Given the description of an element on the screen output the (x, y) to click on. 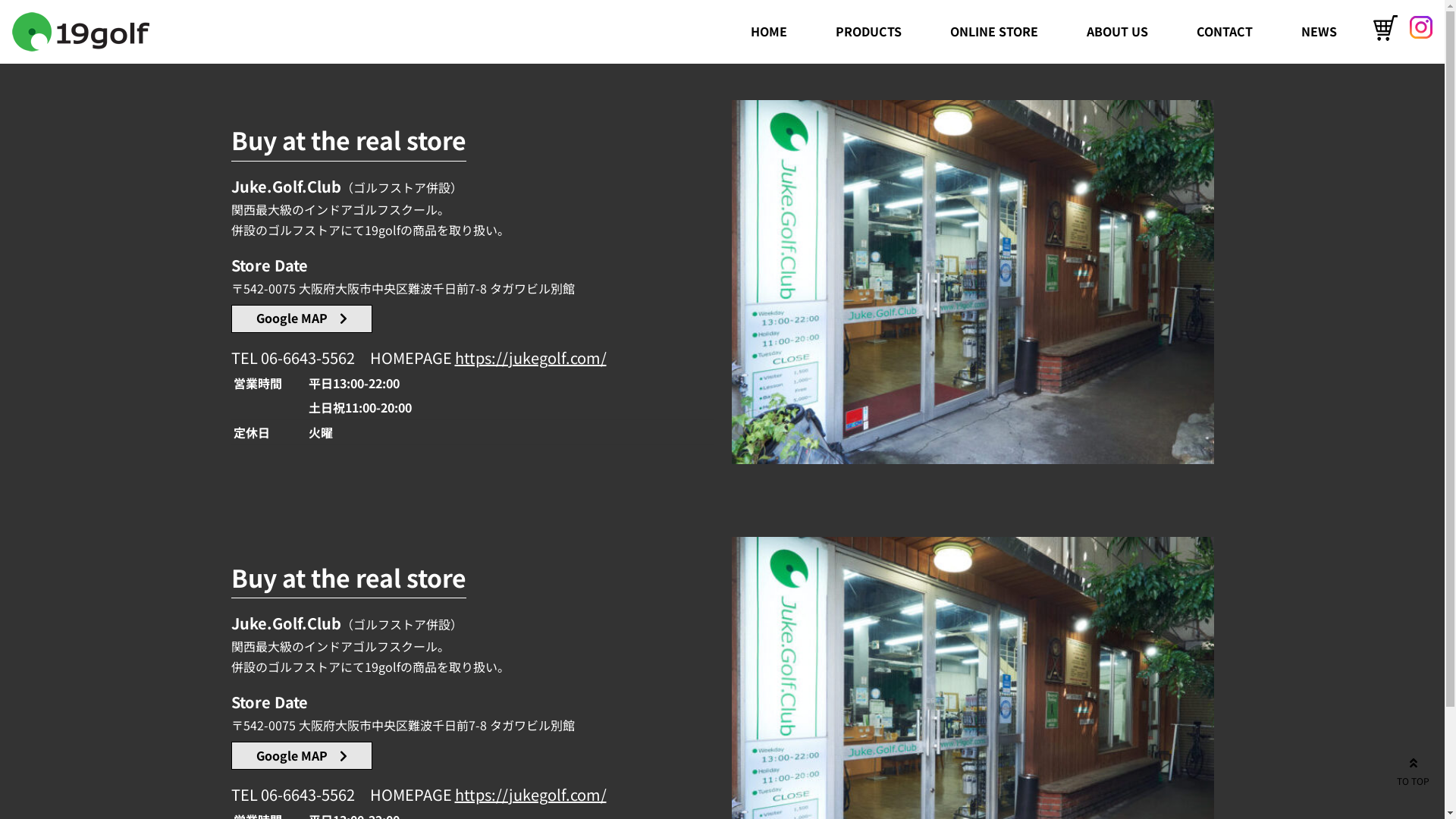
https://jukegolf.com/ Element type: text (530, 357)
PRODUCTS Element type: text (868, 31)
Google MAP Element type: text (300, 318)
NEWS Element type: text (1318, 31)
ABOUT US Element type: text (1117, 31)
HOME Element type: text (768, 31)
TO TOP Element type: text (1412, 770)
https://jukegolf.com/ Element type: text (530, 794)
CONTACT Element type: text (1224, 31)
Google MAP Element type: text (300, 755)
ONLINE STORE Element type: text (994, 31)
